Given the description of an element on the screen output the (x, y) to click on. 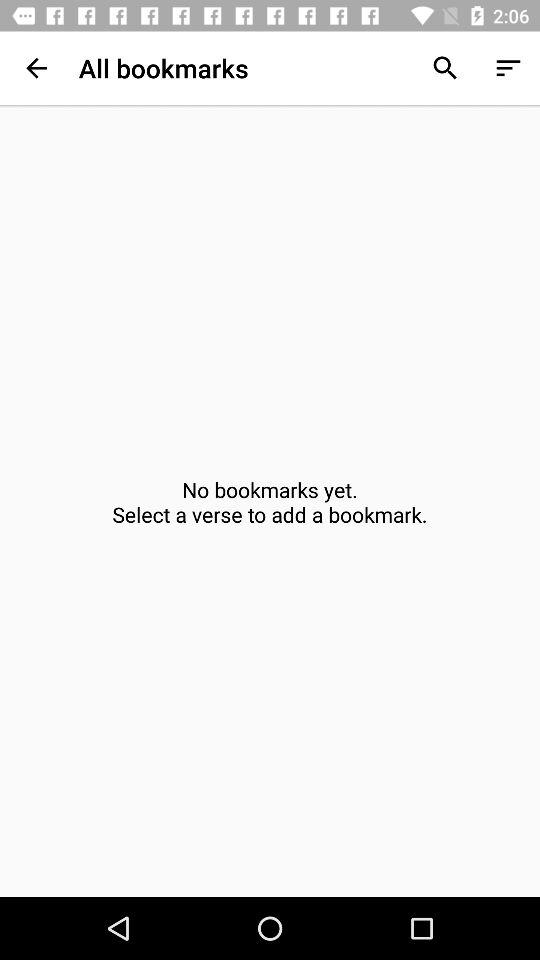
turn on item next to all bookmarks app (36, 68)
